Given the description of an element on the screen output the (x, y) to click on. 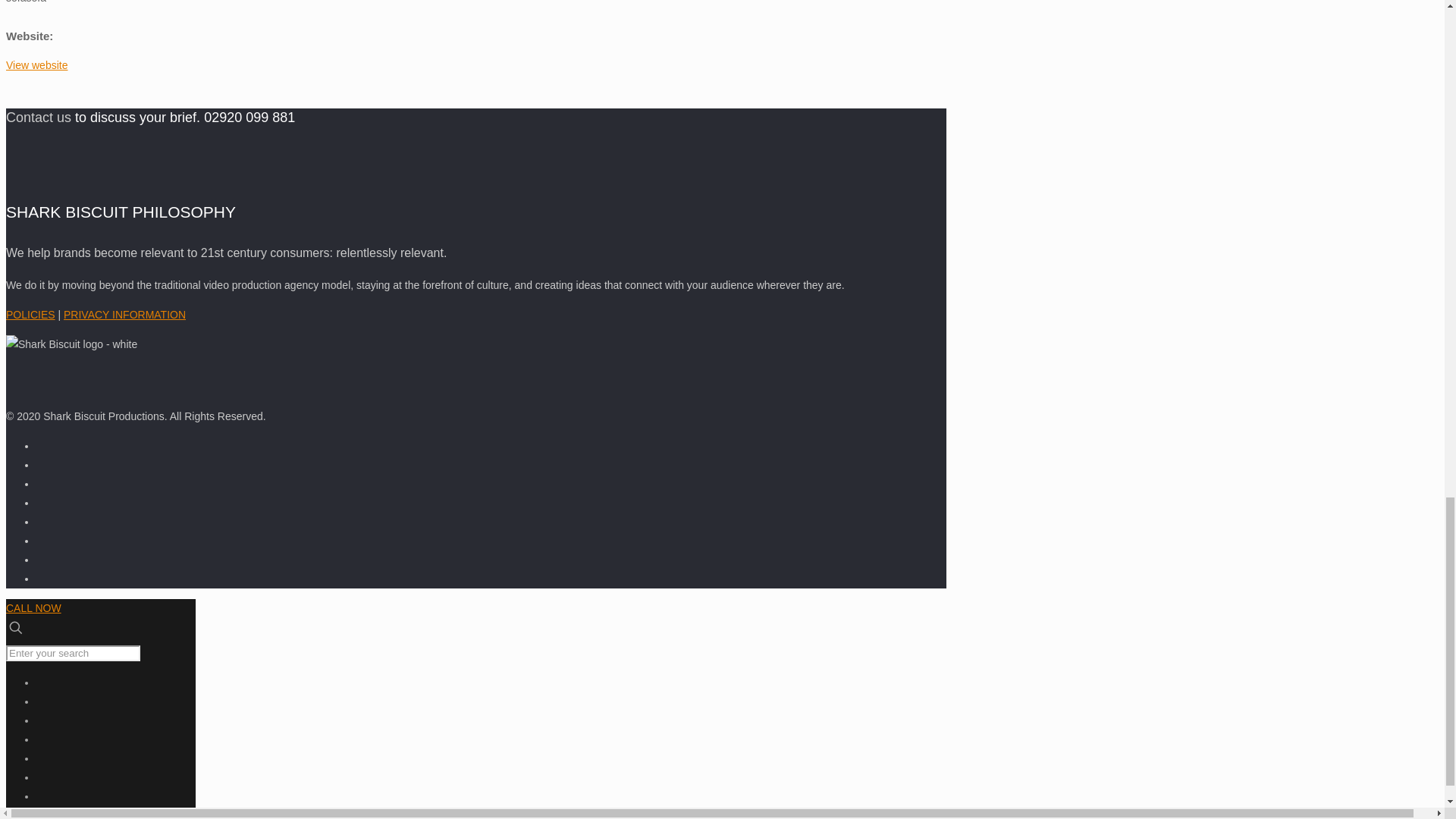
CALL NOW (33, 607)
View website (35, 64)
POLICIES (30, 314)
PRIVACY INFORMATION (125, 314)
Contact us to discuss your brief. 02920 099 881 (150, 118)
